Given the description of an element on the screen output the (x, y) to click on. 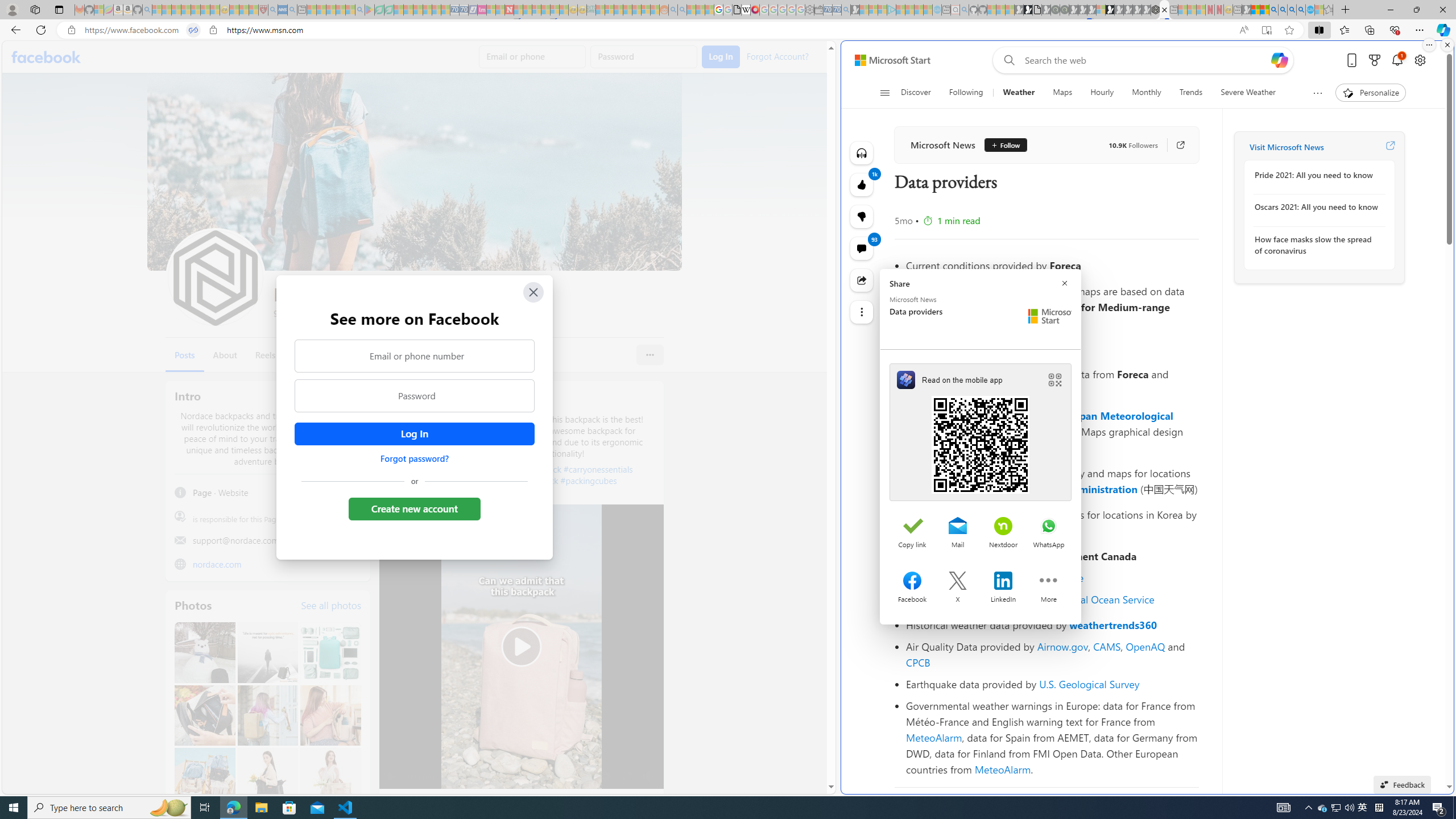
google_privacy_policy_zh-CN.pdf (736, 9)
Data providers (1163, 9)
Maps (1062, 92)
